Given the description of an element on the screen output the (x, y) to click on. 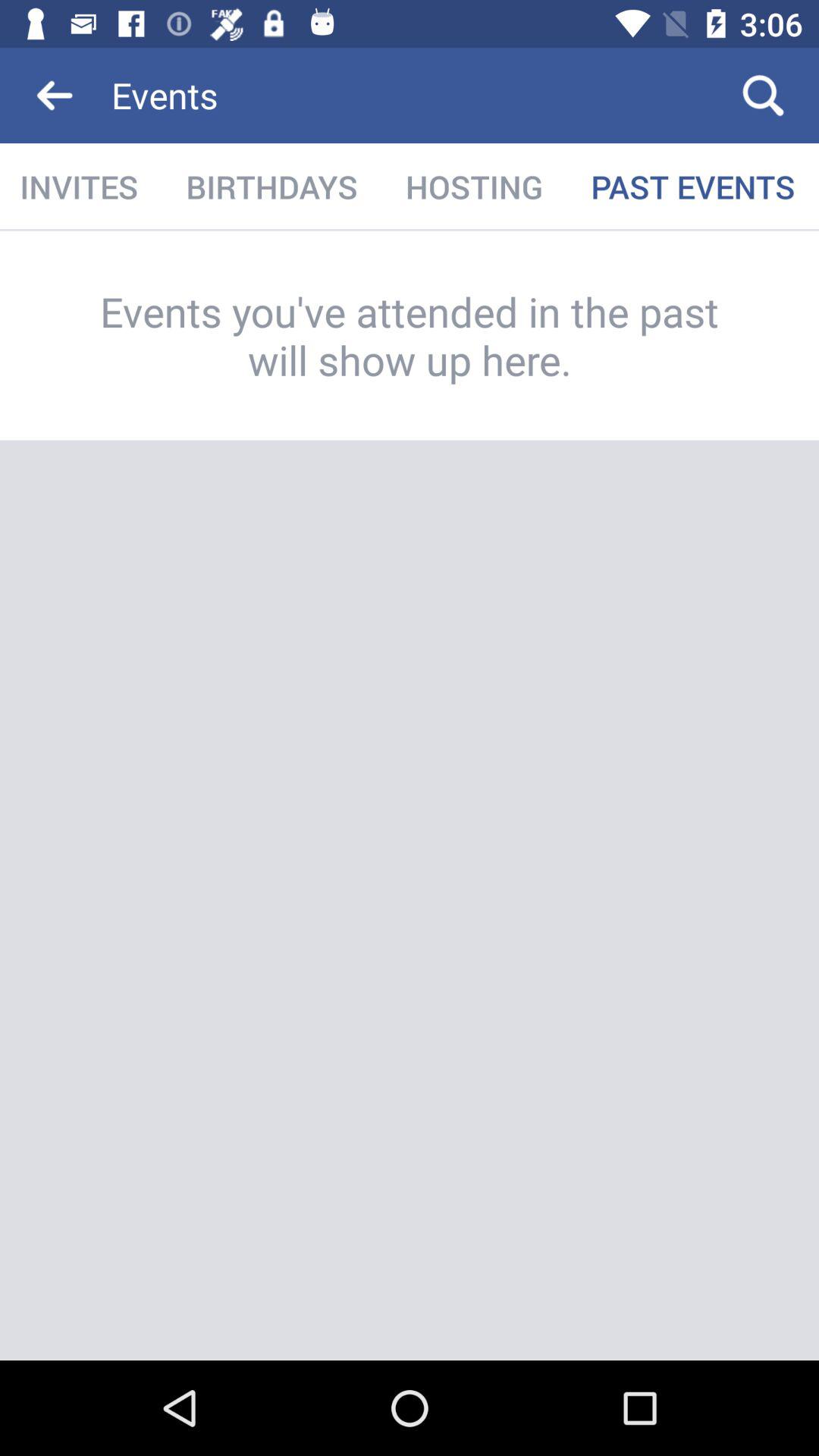
click item next to the past events icon (474, 186)
